Given the description of an element on the screen output the (x, y) to click on. 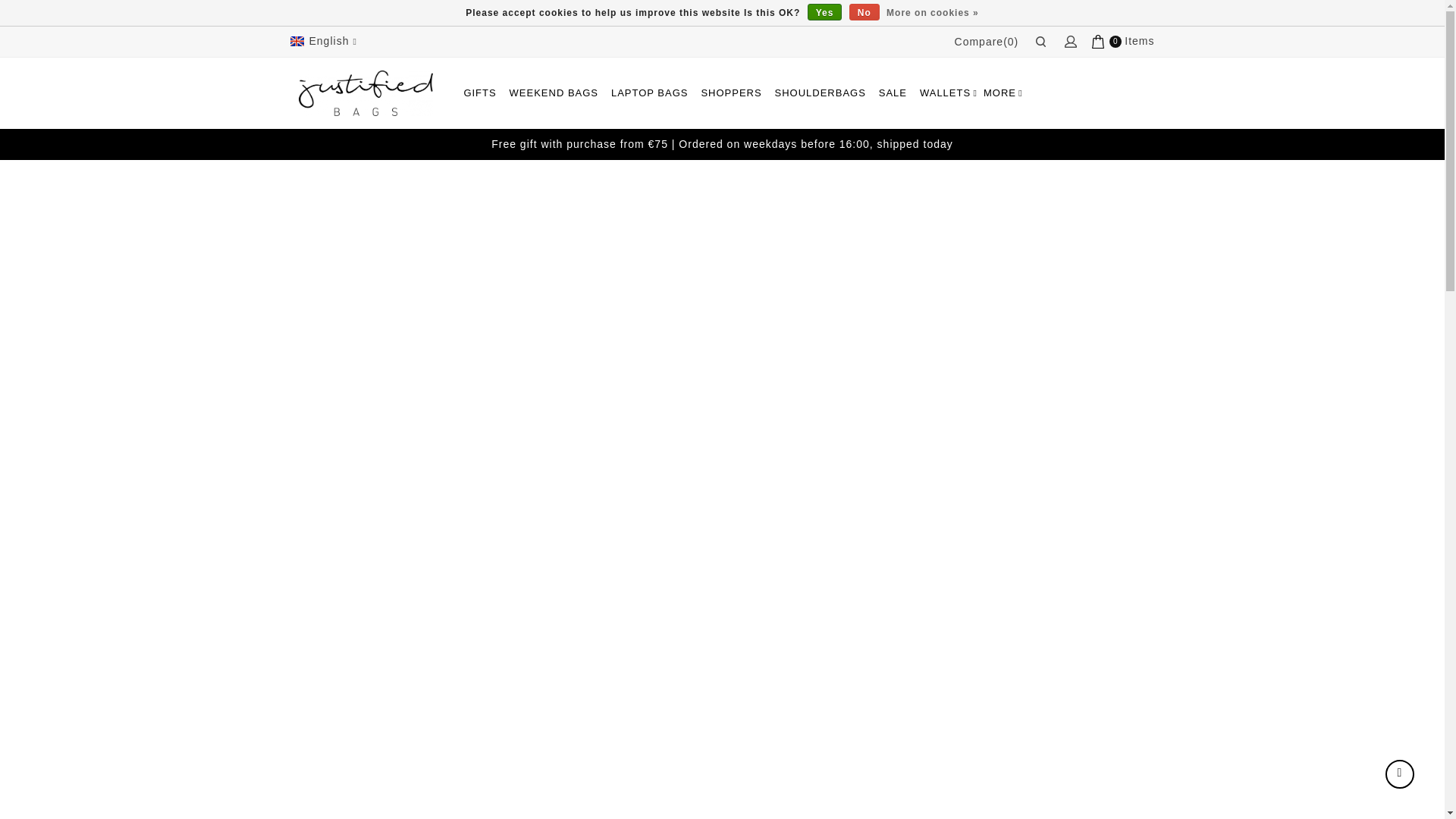
SHOPPERS (730, 93)
English (324, 41)
SHOULDERBAGS (820, 93)
Wallets (945, 93)
Be Yourself, Be Justified (365, 93)
Laptop bags (650, 93)
SALE (893, 93)
GIFTS (479, 93)
Shoppers (730, 93)
LAPTOP BAGS (650, 93)
